Given the description of an element on the screen output the (x, y) to click on. 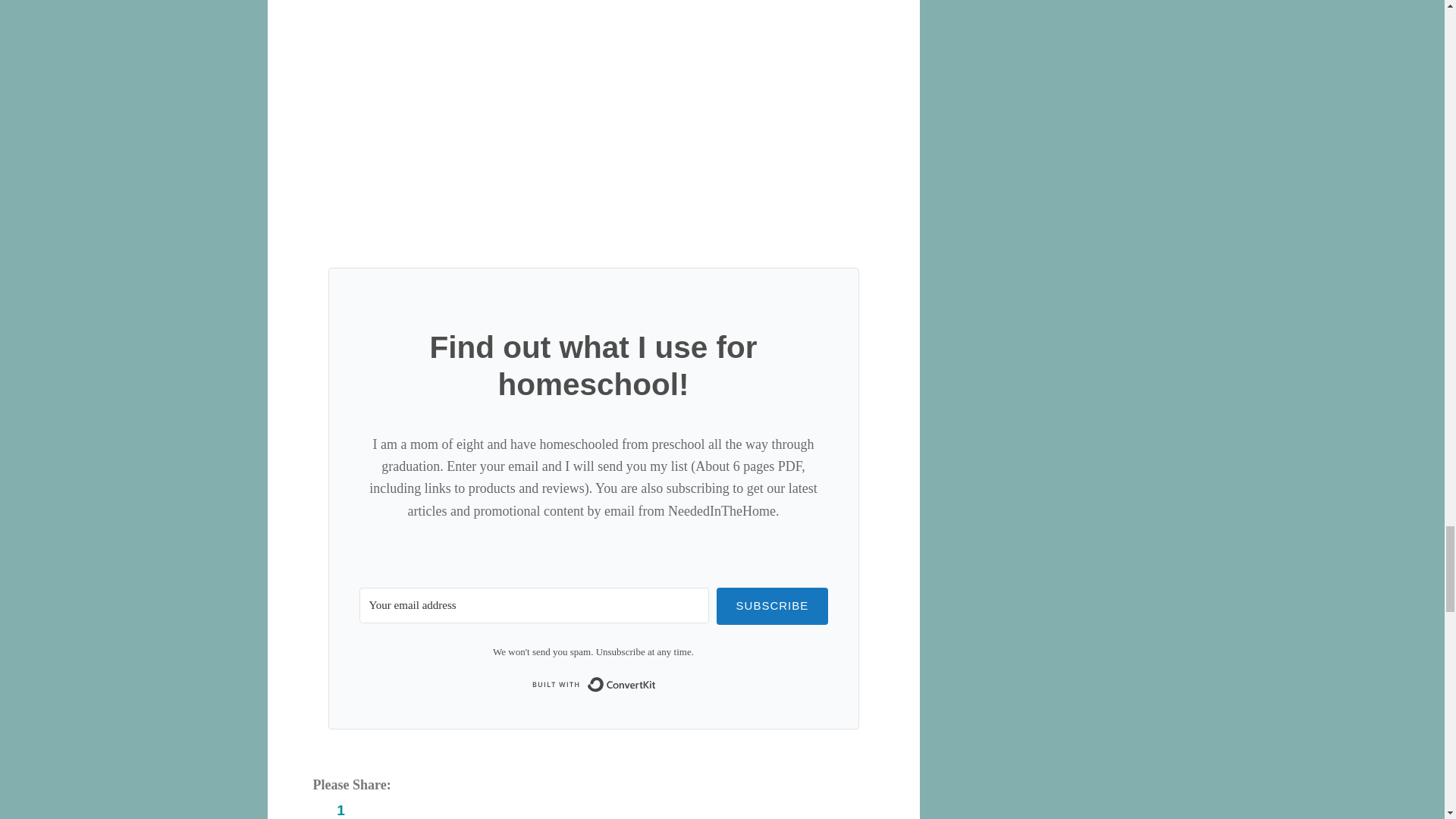
Pinterest (340, 808)
MeWe (452, 808)
More (508, 808)
Twitter (396, 808)
